Given the description of an element on the screen output the (x, y) to click on. 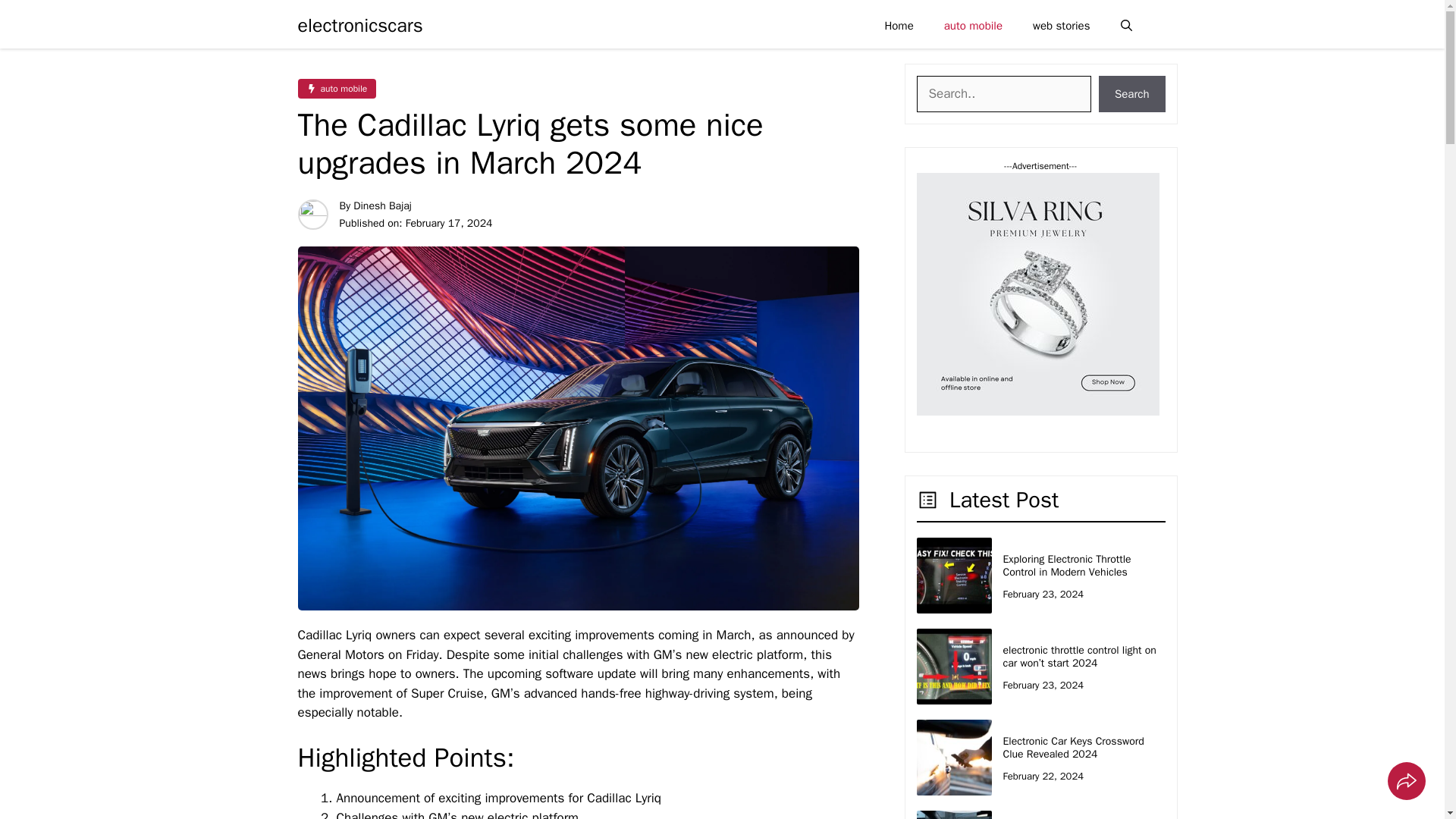
auto mobile (336, 88)
Exploring Electronic Throttle Control in Modern Vehicles (1067, 565)
Dinesh Bajaj (382, 205)
electronicscars (359, 25)
web stories (1061, 25)
Electronic Car Keys Crossword Clue Revealed 2024 (1072, 747)
auto mobile (972, 25)
Search (1132, 94)
Home (898, 25)
